Given the description of an element on the screen output the (x, y) to click on. 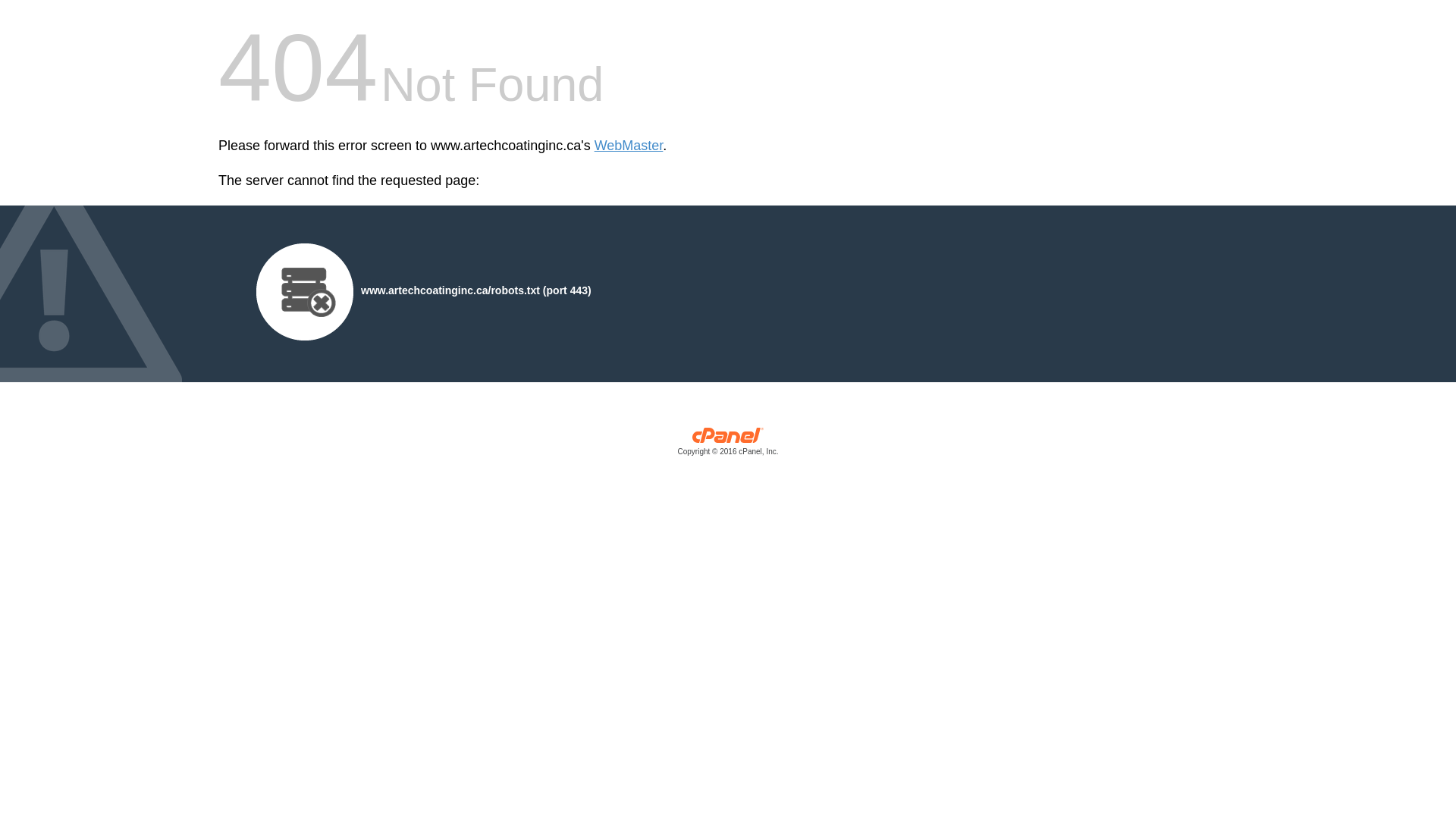
WebMaster Element type: text (628, 145)
